Given the description of an element on the screen output the (x, y) to click on. 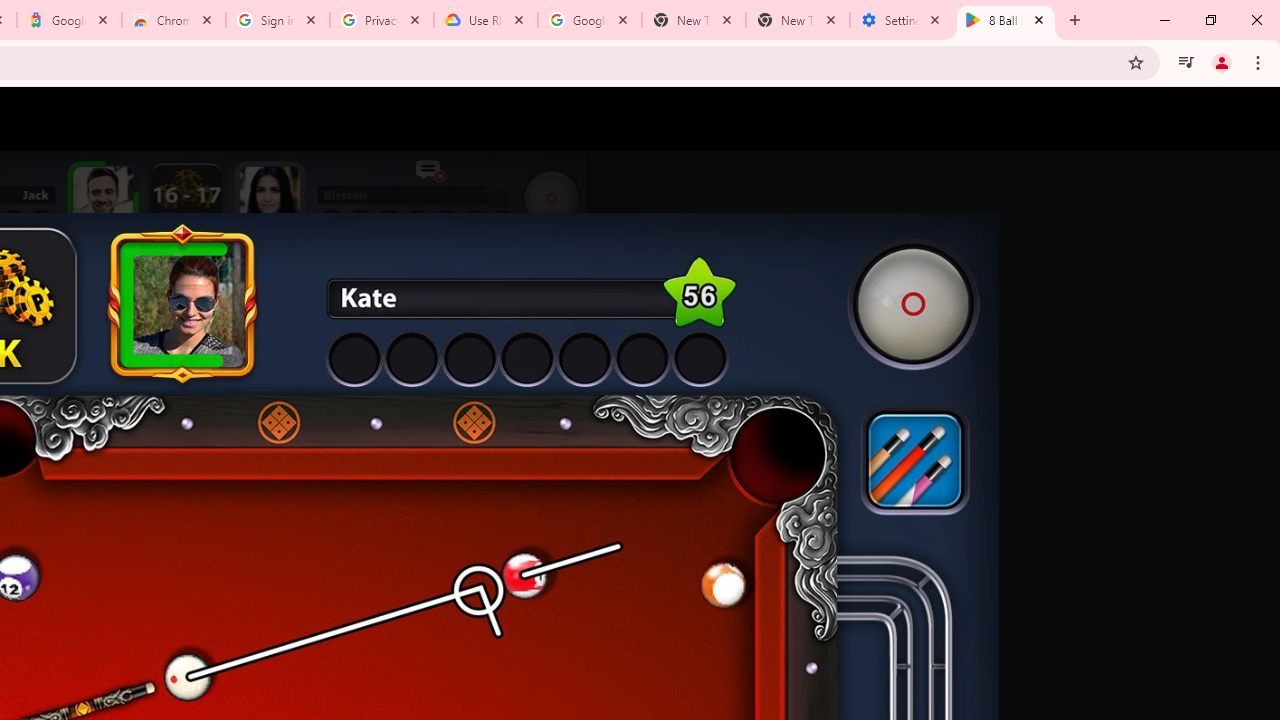
Sign in - Google Accounts (278, 20)
8 Ball Pool - Apps on Google Play (1005, 20)
Help Center (1197, 119)
New Tab (797, 20)
Chrome Web Store - Color themes by Chrome (173, 20)
Settings - System (901, 20)
